Given the description of an element on the screen output the (x, y) to click on. 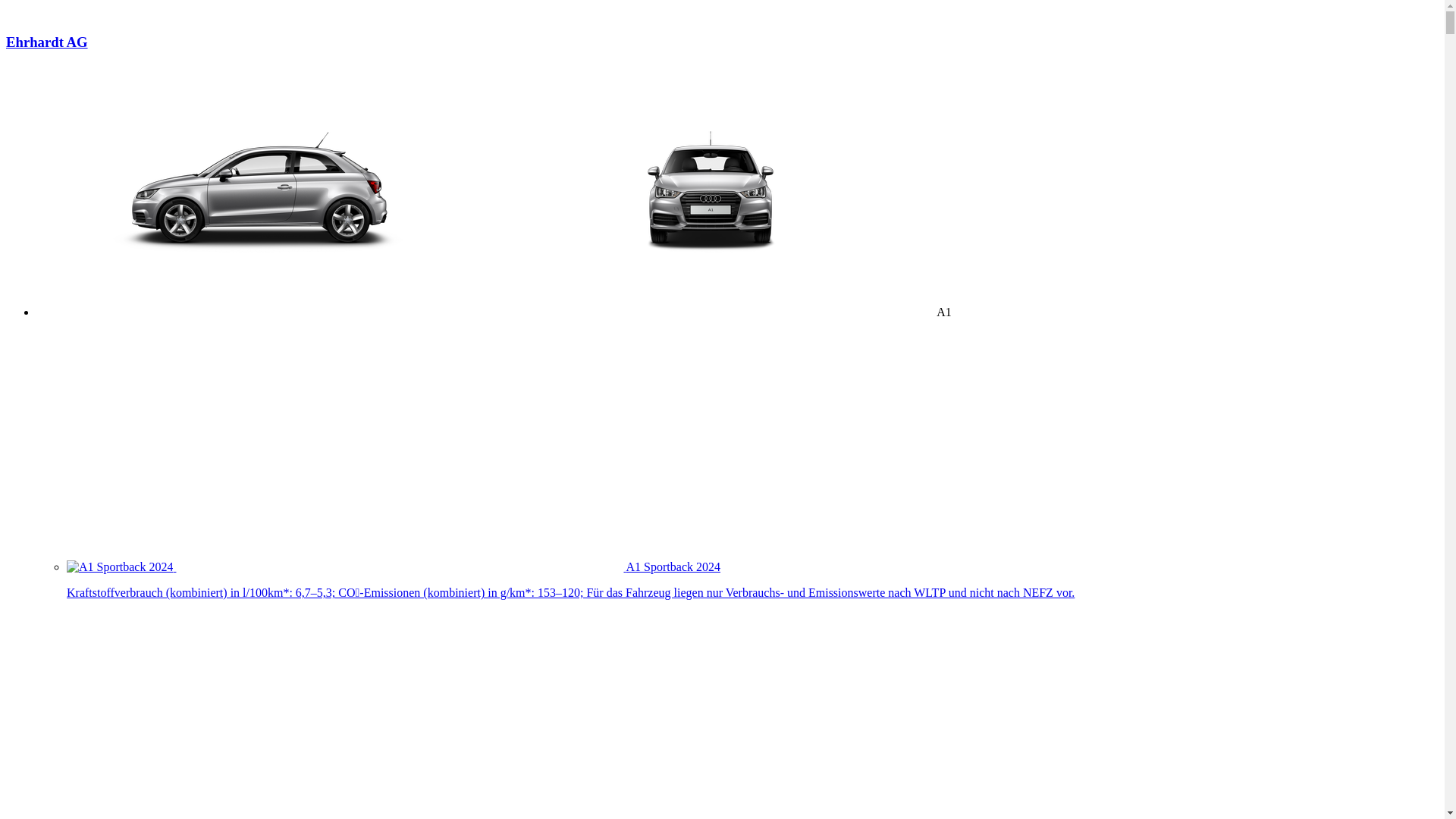
A1 Element type: text (493, 311)
Ehrhardt AG Element type: text (722, 56)
